Given the description of an element on the screen output the (x, y) to click on. 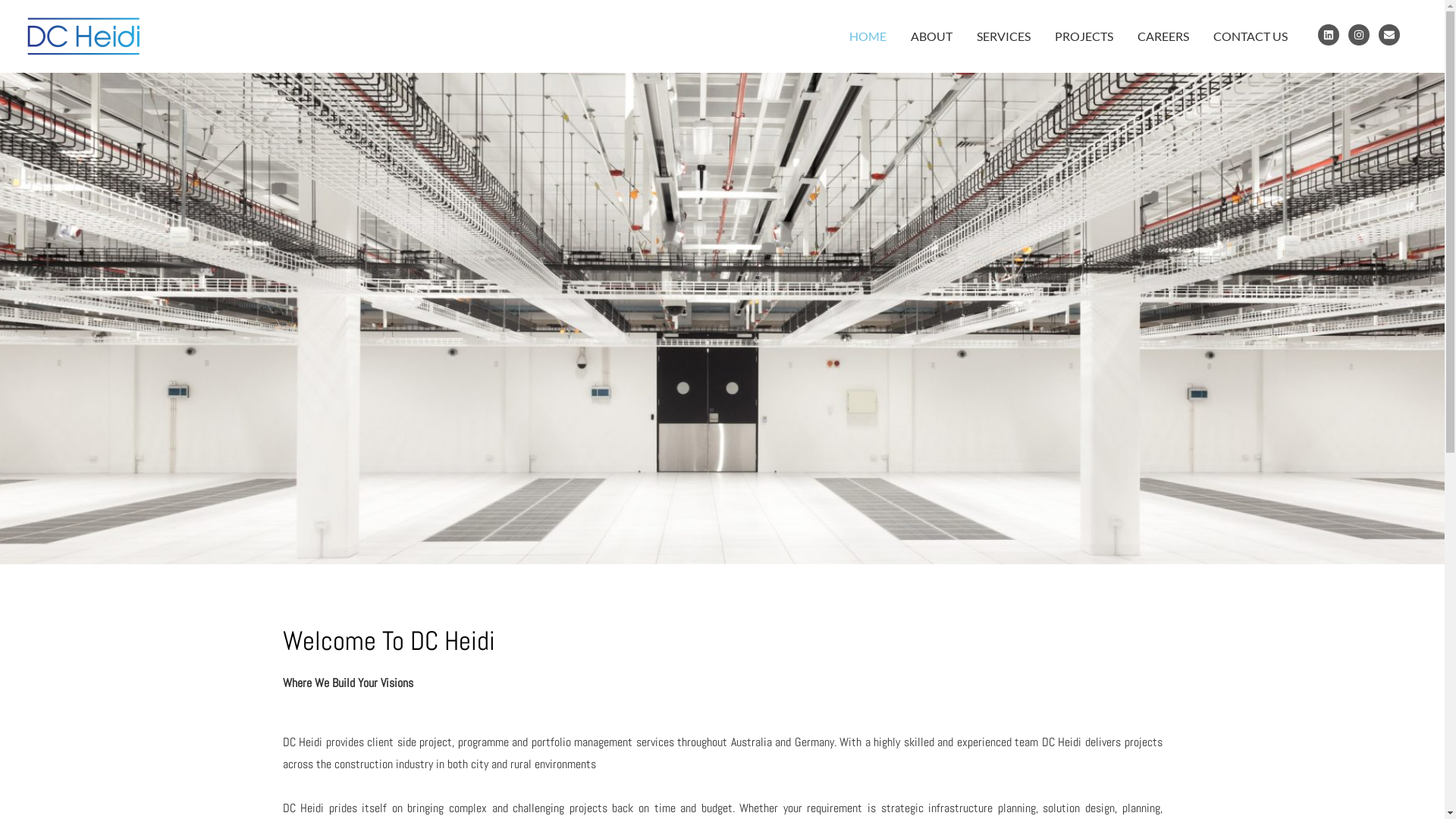
HOME Element type: text (867, 36)
ABOUT Element type: text (931, 36)
SERVICES Element type: text (1003, 36)
CAREERS Element type: text (1163, 36)
CONTACT US Element type: text (1250, 36)
PROJECTS Element type: text (1083, 36)
